Given the description of an element on the screen output the (x, y) to click on. 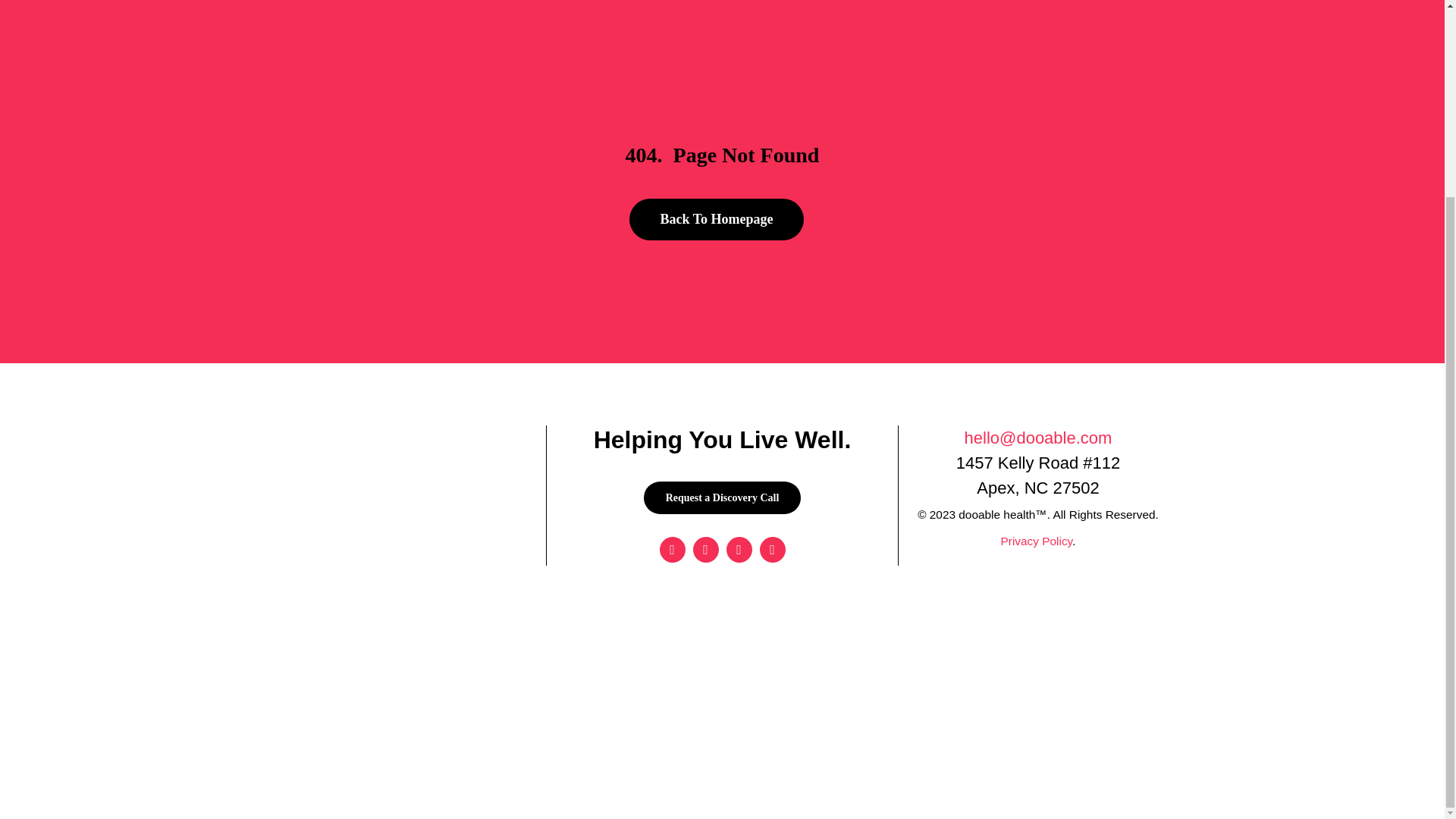
Facebook (672, 549)
YouTube (739, 549)
Back To Homepage (715, 219)
Instagram (706, 549)
LinkedIn (773, 549)
